Given the description of an element on the screen output the (x, y) to click on. 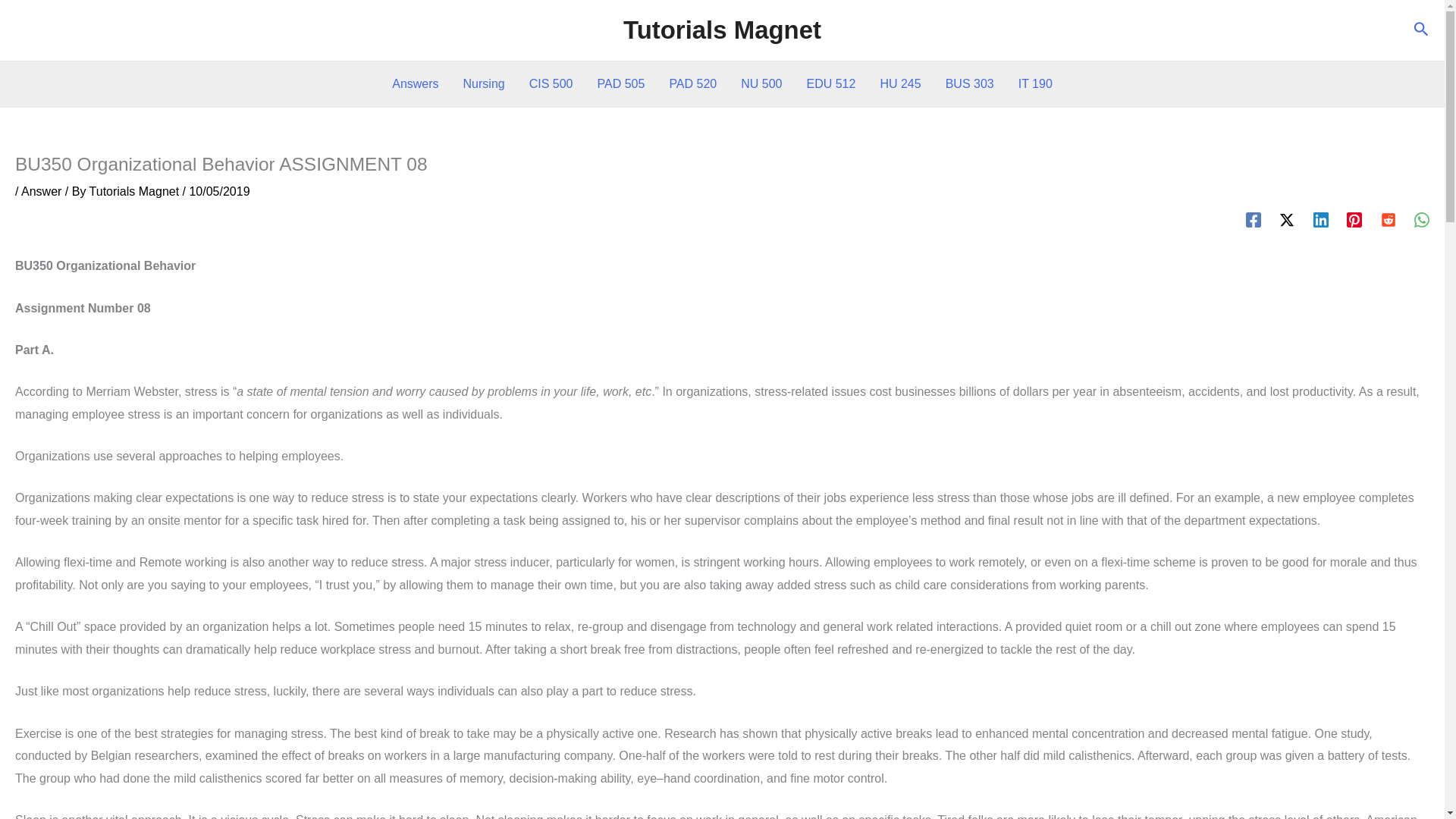
EDU 512 (830, 84)
PAD 505 (621, 84)
Answer (41, 191)
BUS 303 (969, 84)
NU 500 (761, 84)
View all posts by Tutorials Magnet (135, 191)
PAD 520 (692, 84)
IT 190 (1035, 84)
CIS 500 (550, 84)
Nursing (483, 84)
HU 245 (900, 84)
Tutorials Magnet (135, 191)
Tutorials Magnet (722, 29)
Answers (414, 84)
